Given the description of an element on the screen output the (x, y) to click on. 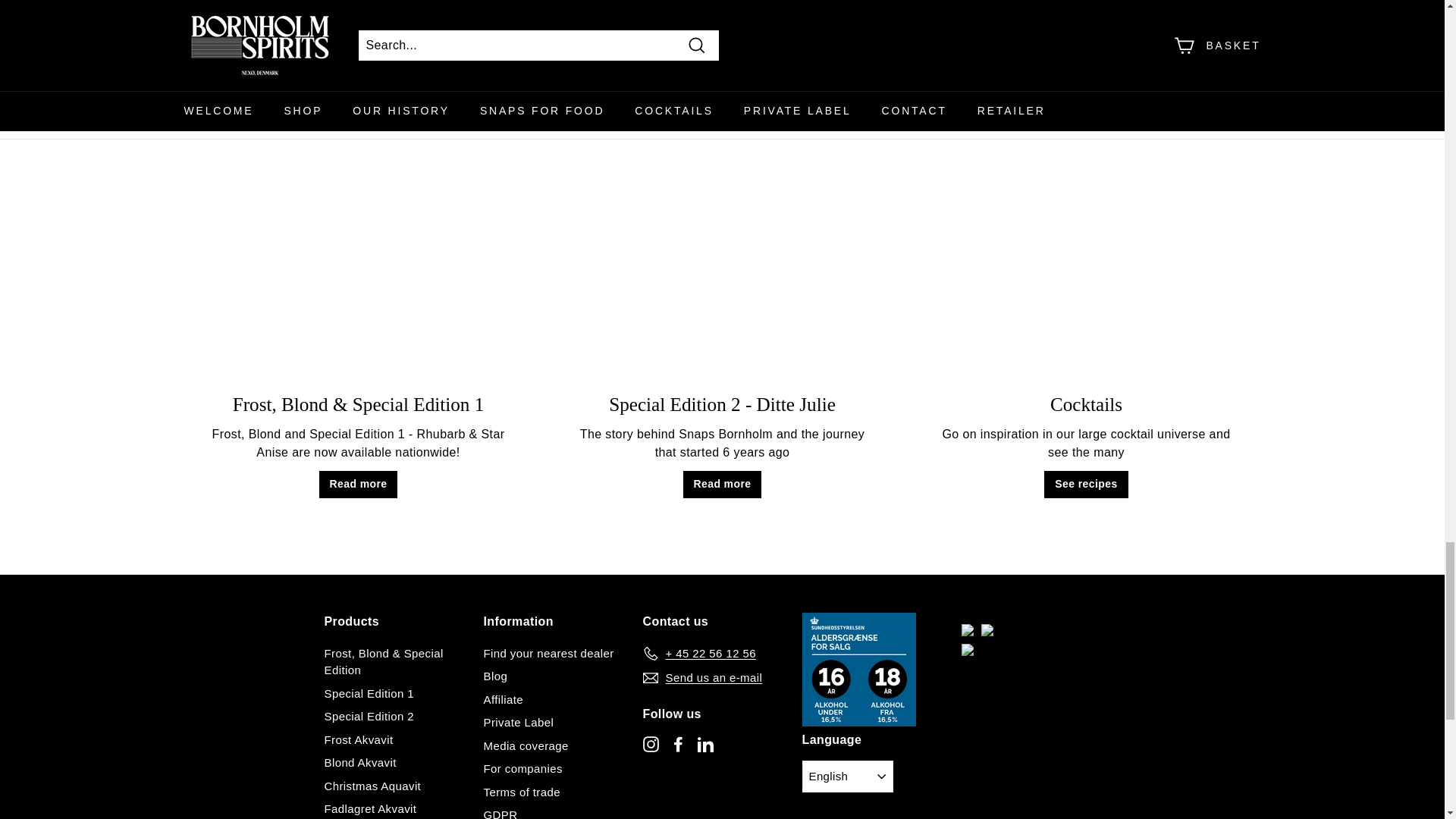
Bornholm Spirits on Instagram (651, 743)
Bornholm Spirits on LinkedIn (705, 743)
Bornholm Spirits on Facebook (677, 743)
